Given the description of an element on the screen output the (x, y) to click on. 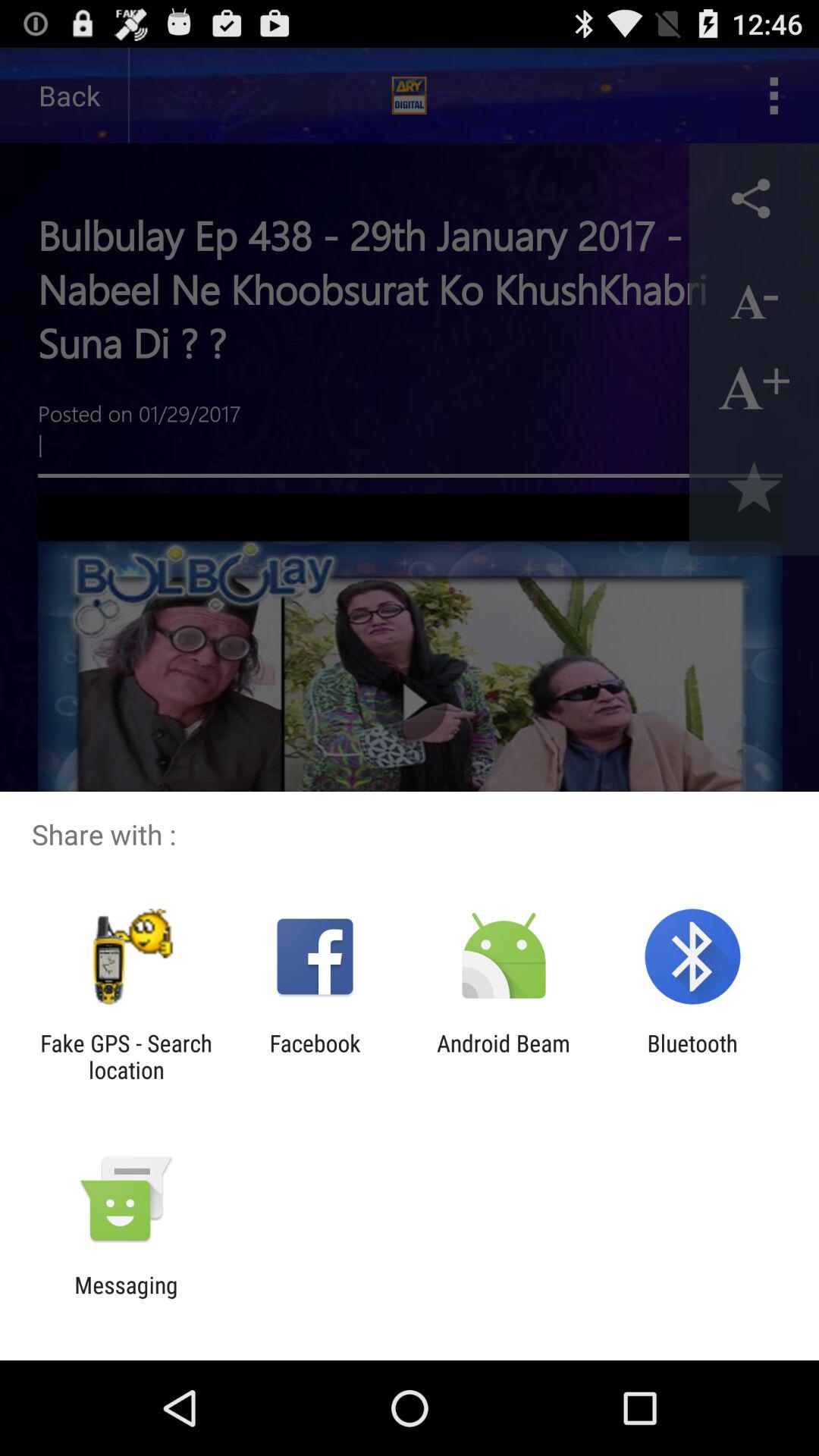
press the icon next to facebook item (503, 1056)
